Given the description of an element on the screen output the (x, y) to click on. 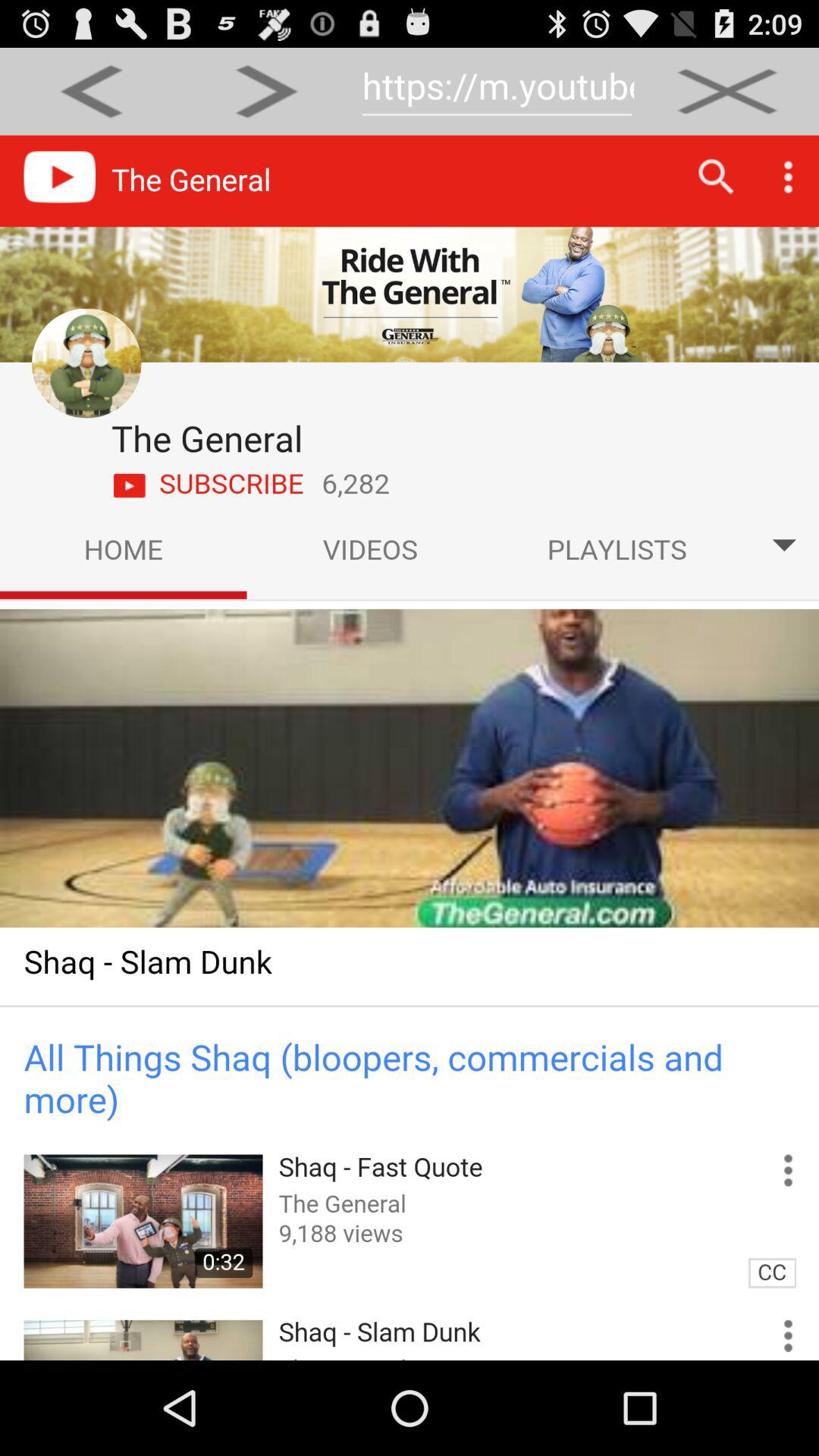
click x button (727, 91)
